Given the description of an element on the screen output the (x, y) to click on. 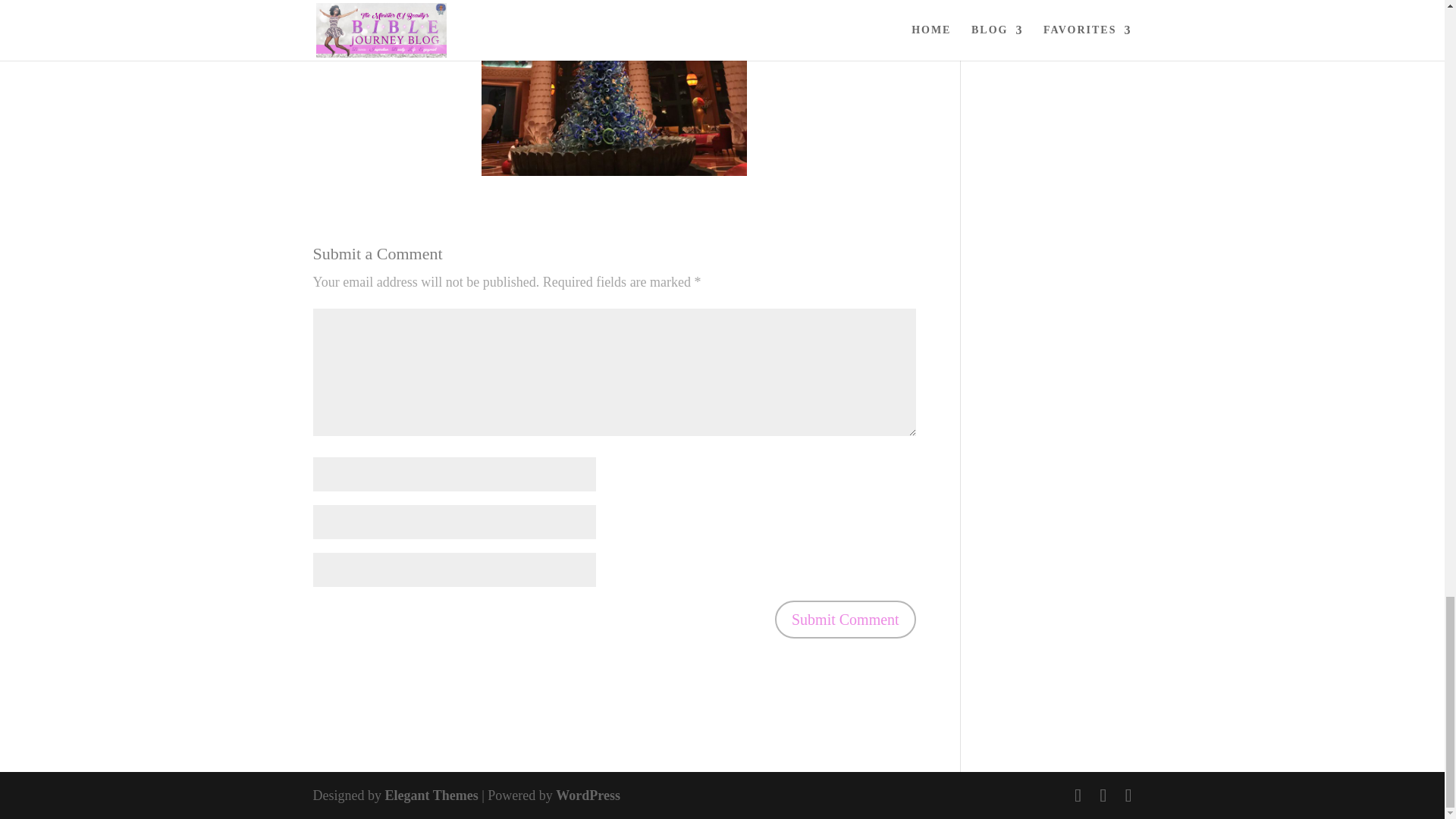
Premium WordPress Themes (430, 795)
Submit Comment (844, 619)
Submit Comment (844, 619)
